Given the description of an element on the screen output the (x, y) to click on. 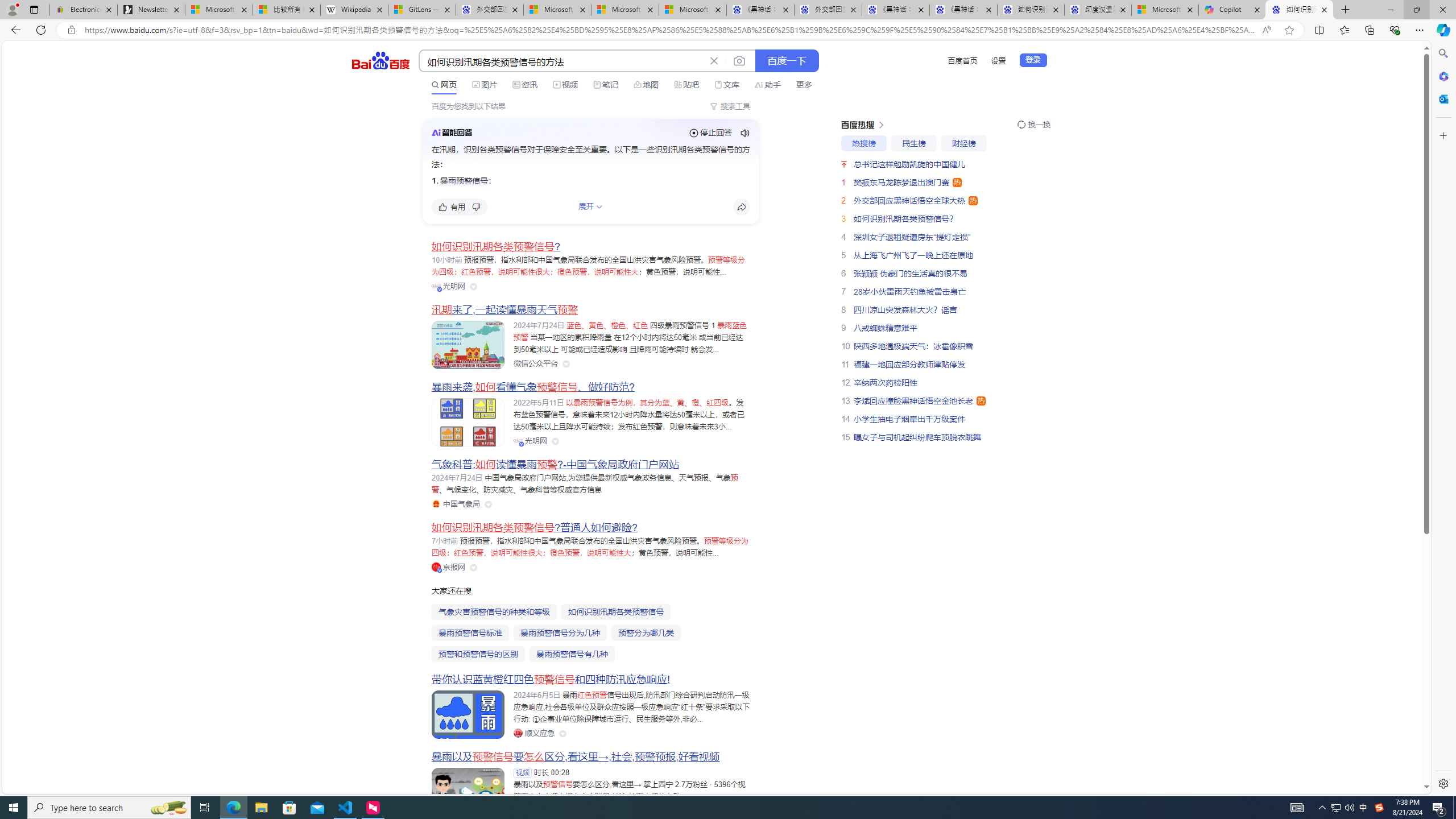
Settings and more (Alt+F) (1419, 29)
Customize (1442, 135)
Close (1442, 9)
Back (13, 29)
